Given the description of an element on the screen output the (x, y) to click on. 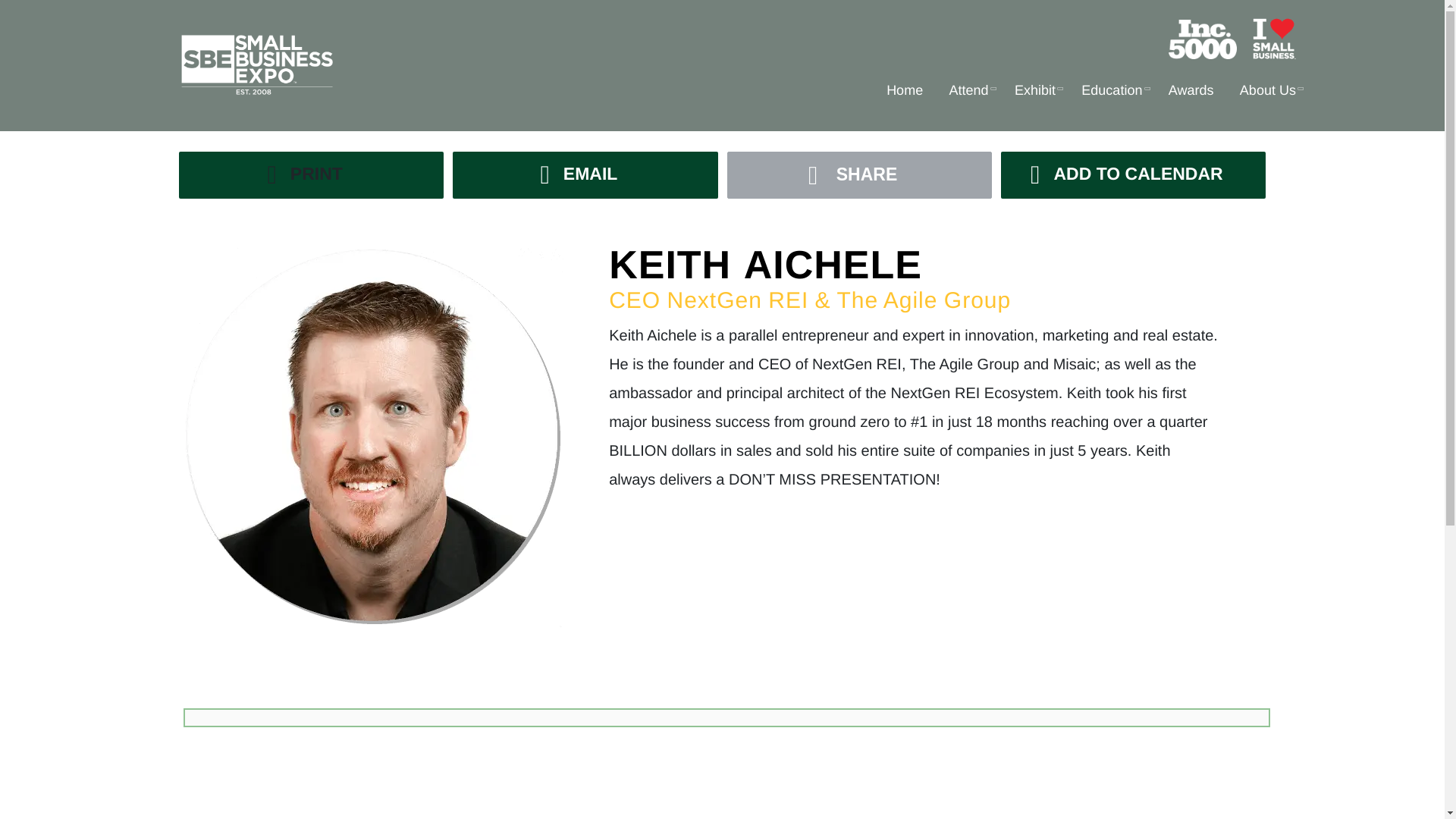
Exhibit (1034, 92)
Attend (968, 92)
Home (904, 92)
